Given the description of an element on the screen output the (x, y) to click on. 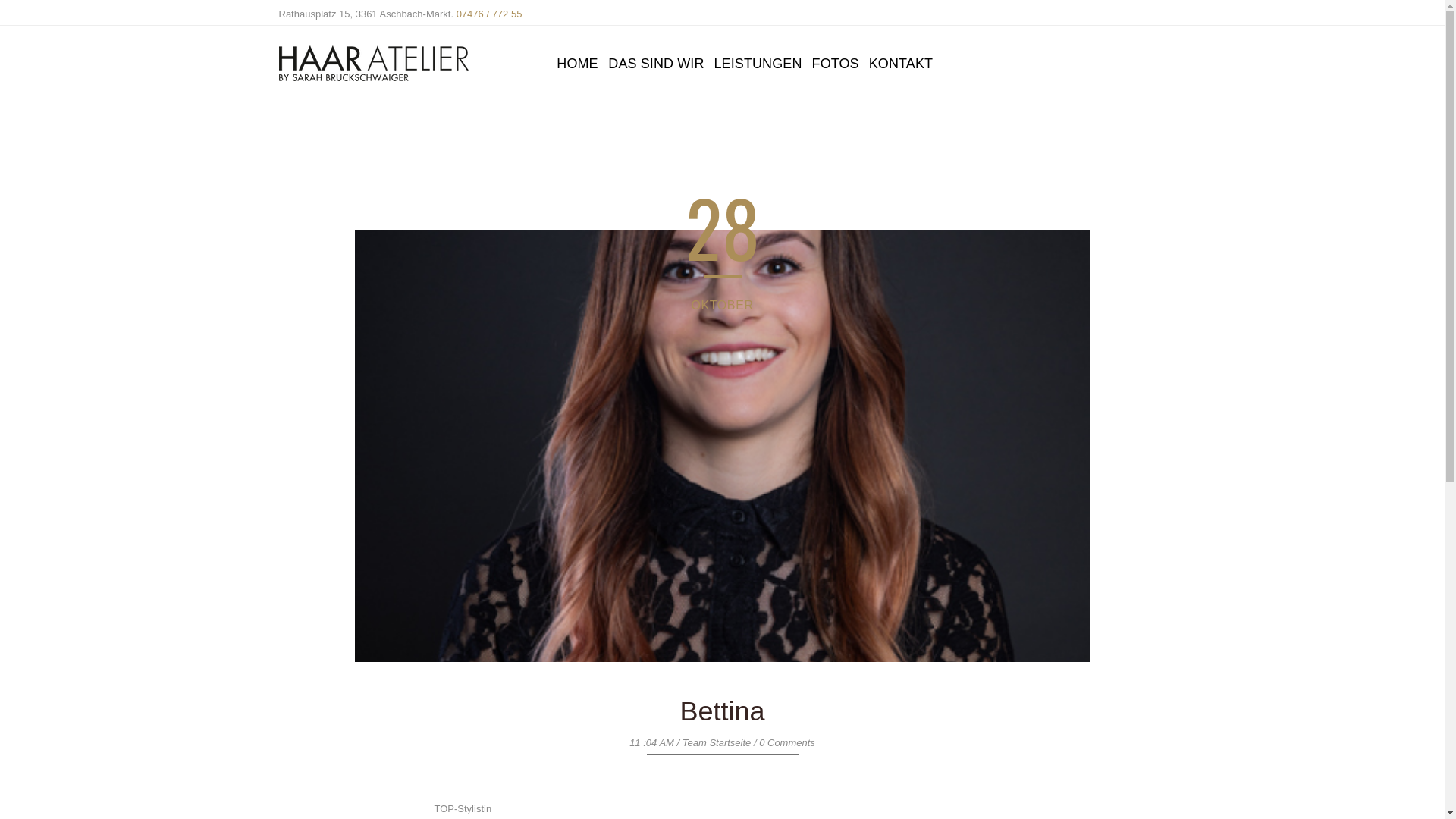
LEISTUNGEN Element type: text (758, 63)
Bettina Element type: text (721, 710)
DAS SIND WIR Element type: text (655, 63)
HOME Element type: text (576, 63)
FOTOS Element type: text (835, 63)
KONTAKT Element type: text (900, 63)
